Given the description of an element on the screen output the (x, y) to click on. 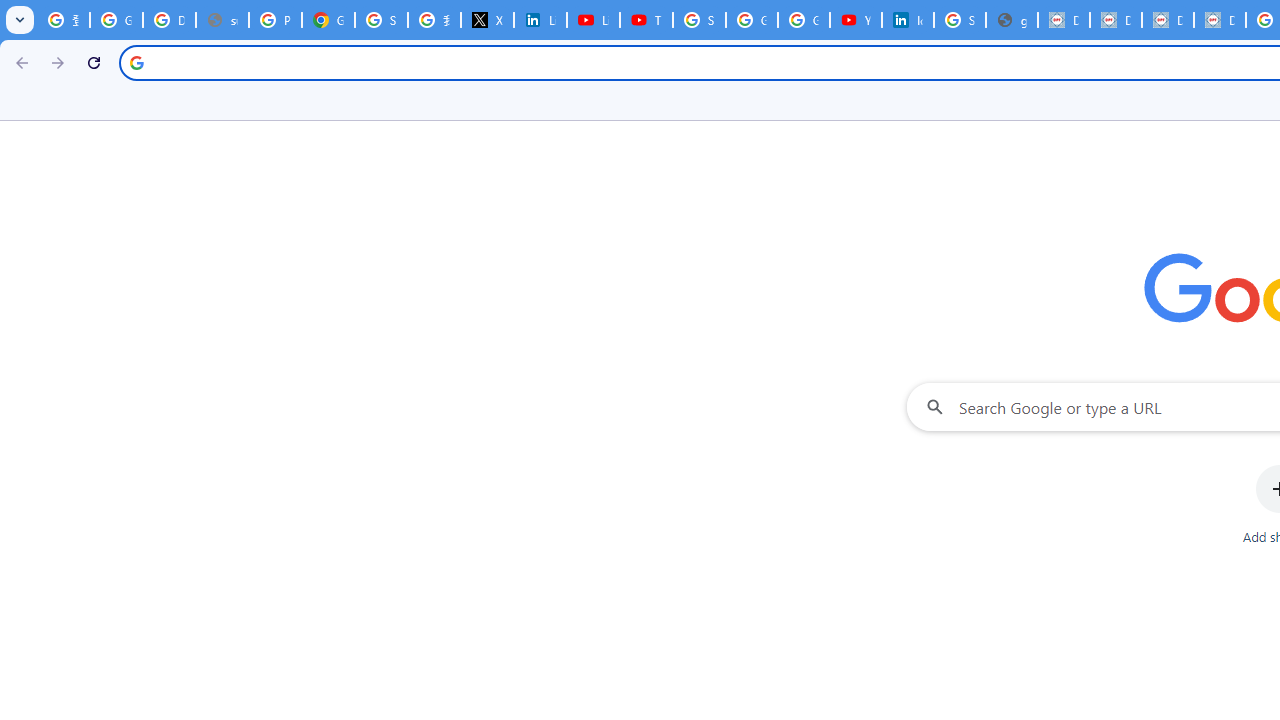
Data Privacy Framework (1167, 20)
LinkedIn - YouTube (593, 20)
X (487, 20)
Sign in - Google Accounts (959, 20)
Sign in - Google Accounts (699, 20)
google_privacy_policy_en.pdf (1011, 20)
Data Privacy Framework (1219, 20)
Search icon (136, 62)
